Given the description of an element on the screen output the (x, y) to click on. 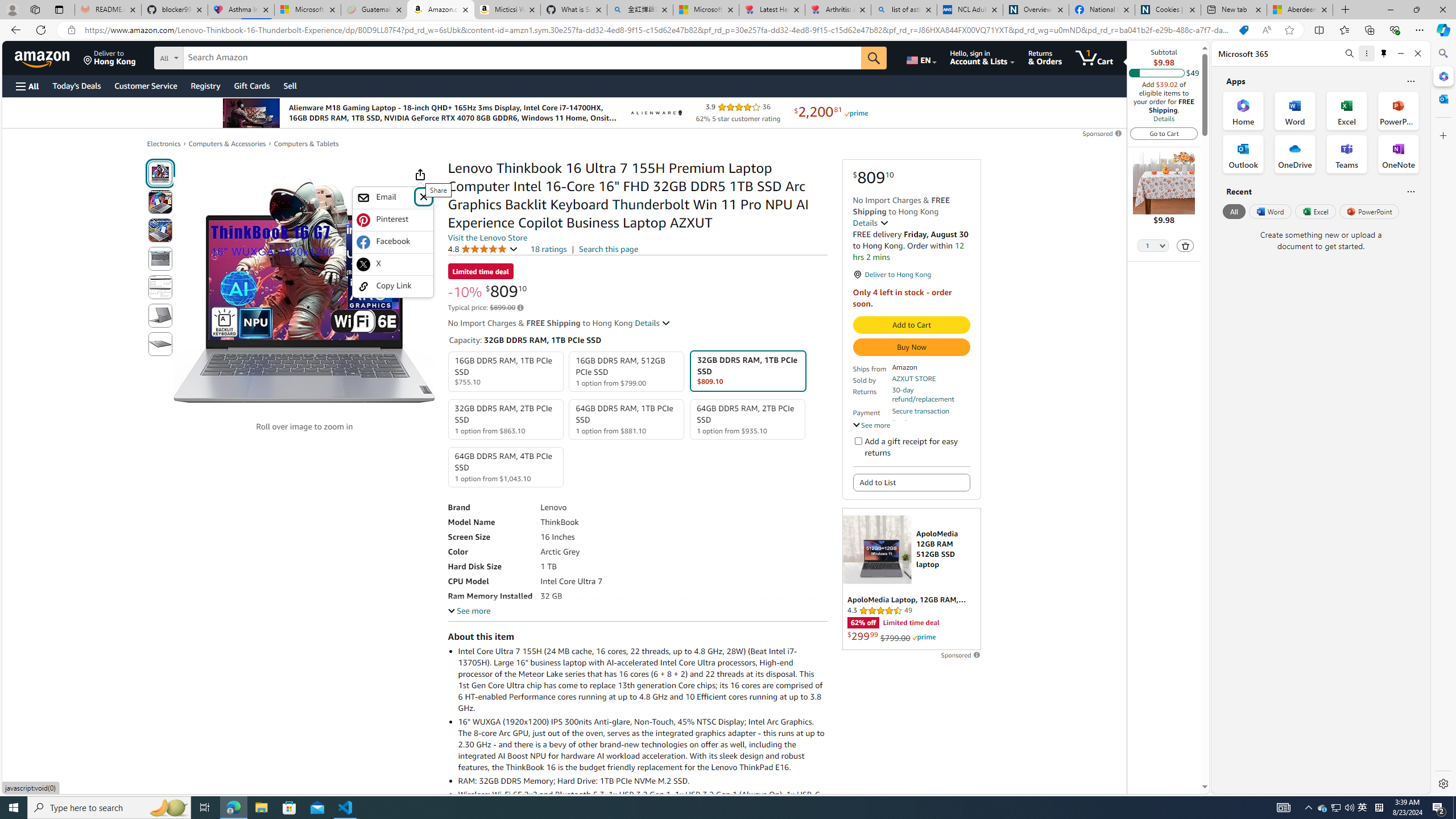
Hello, sign in Account & Lists (982, 57)
Computers & Accessories (226, 144)
Delete (1185, 245)
Logo (655, 112)
Facebook (392, 241)
Share (419, 174)
Open Menu (26, 86)
Cookies | About | NICE (1167, 9)
Home Office App (1243, 110)
